Given the description of an element on the screen output the (x, y) to click on. 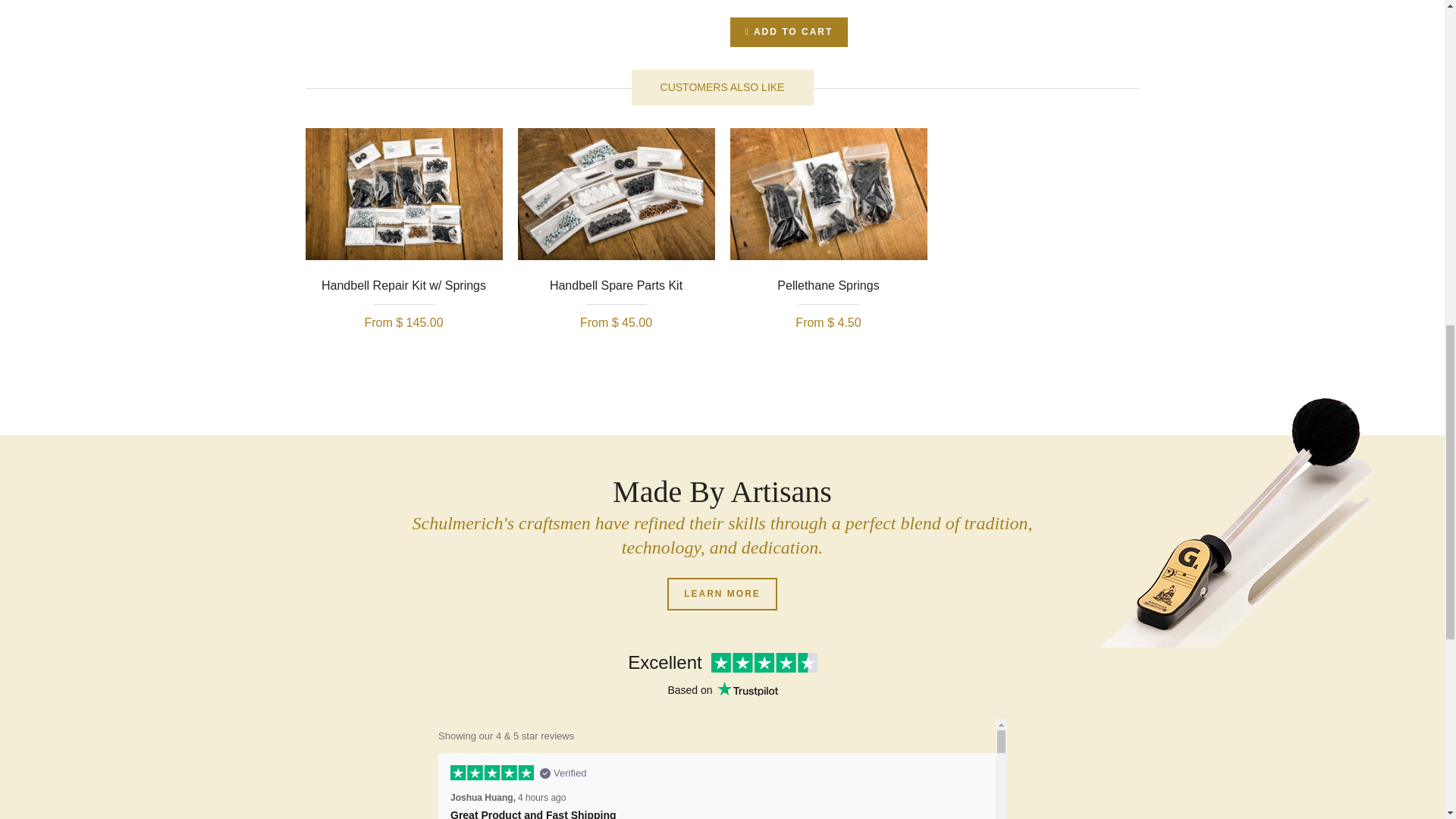
ADD TO CART (788, 31)
LEARN MORE (721, 594)
